Given the description of an element on the screen output the (x, y) to click on. 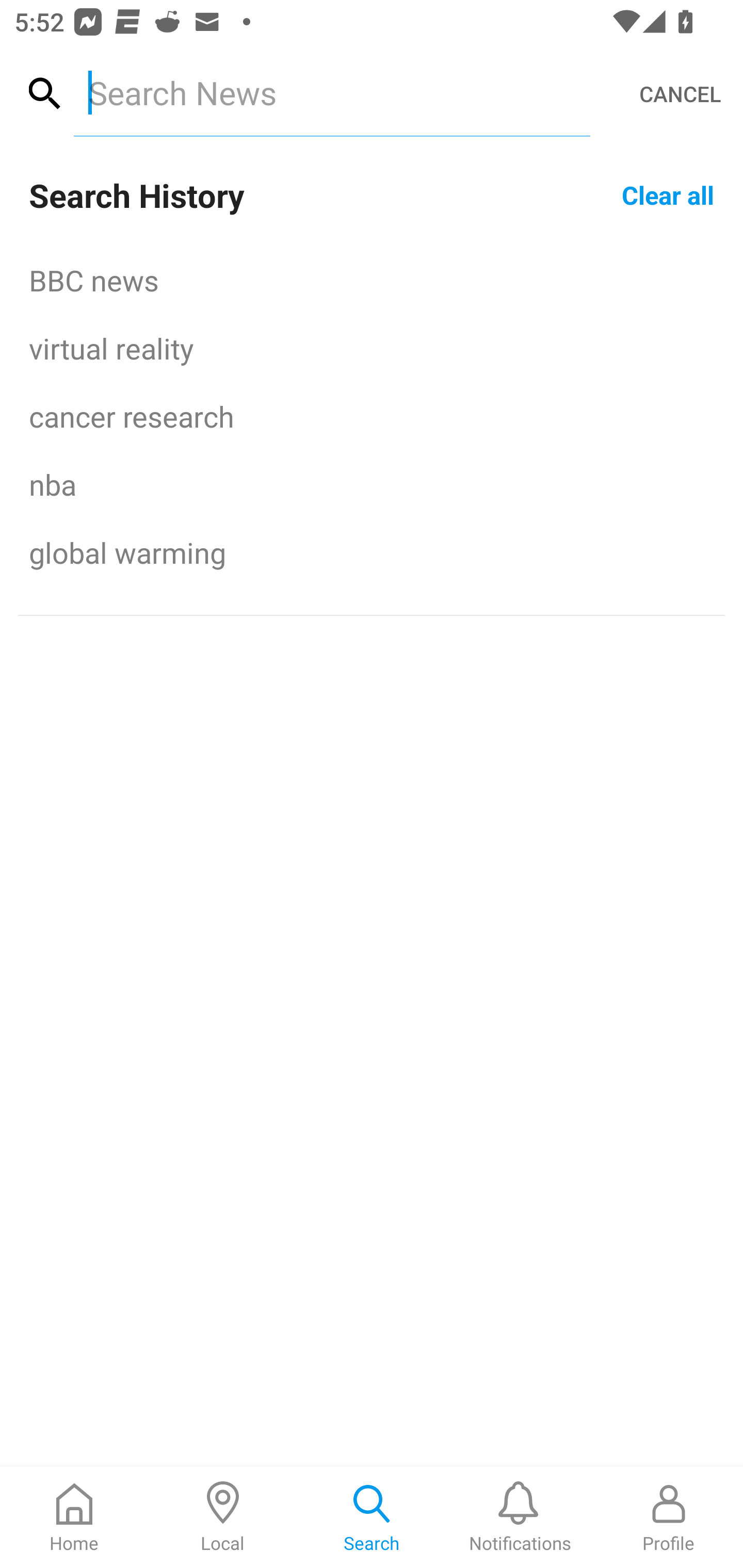
CANCEL (680, 93)
Search News (331, 92)
Clear all (667, 194)
BBC news (371, 279)
virtual reality (371, 347)
cancer research (371, 416)
nba (371, 484)
global warming (371, 552)
Home (74, 1517)
Local (222, 1517)
Notifications (519, 1517)
Profile (668, 1517)
